Given the description of an element on the screen output the (x, y) to click on. 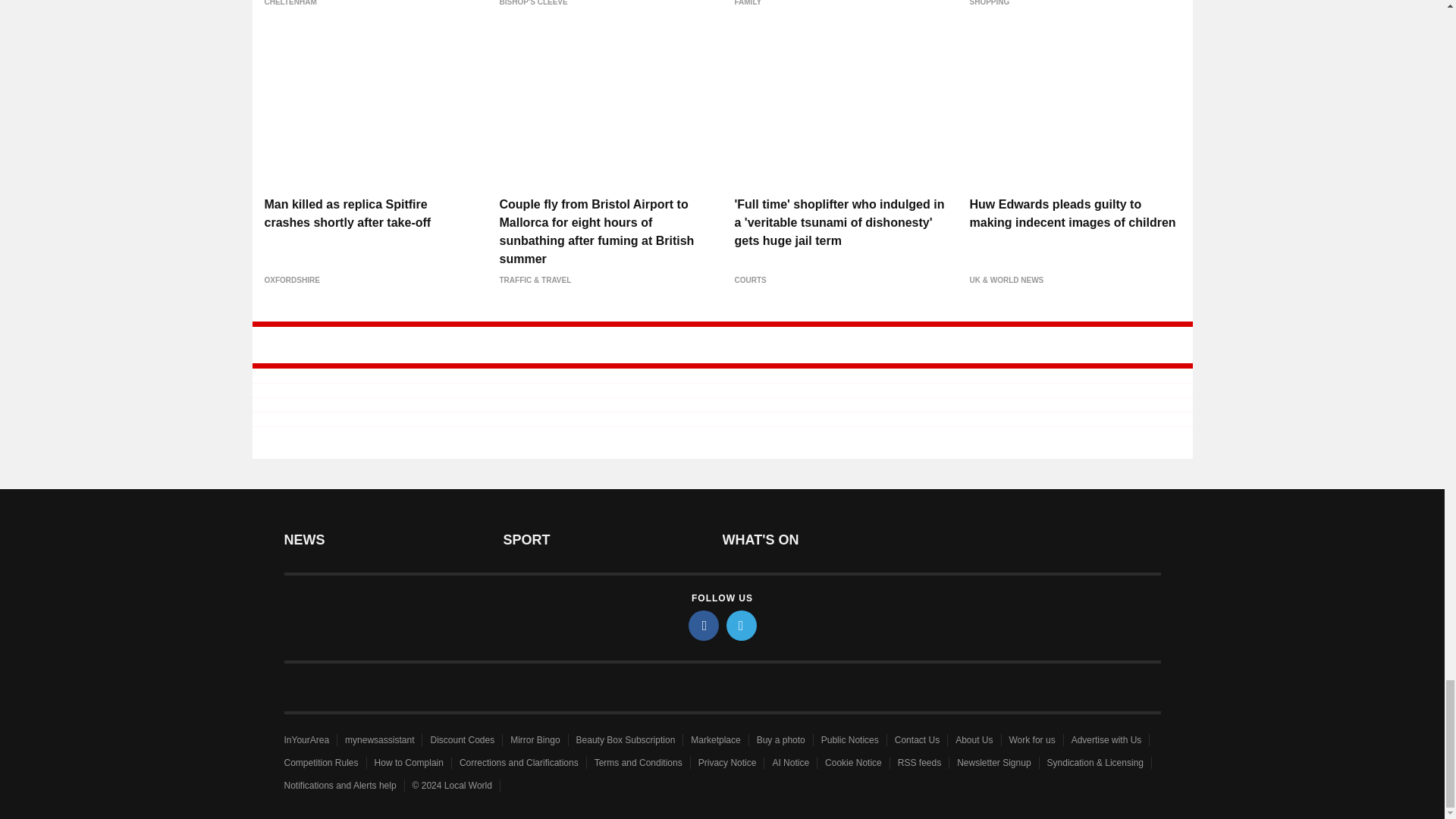
twitter (741, 625)
facebook (703, 625)
